Given the description of an element on the screen output the (x, y) to click on. 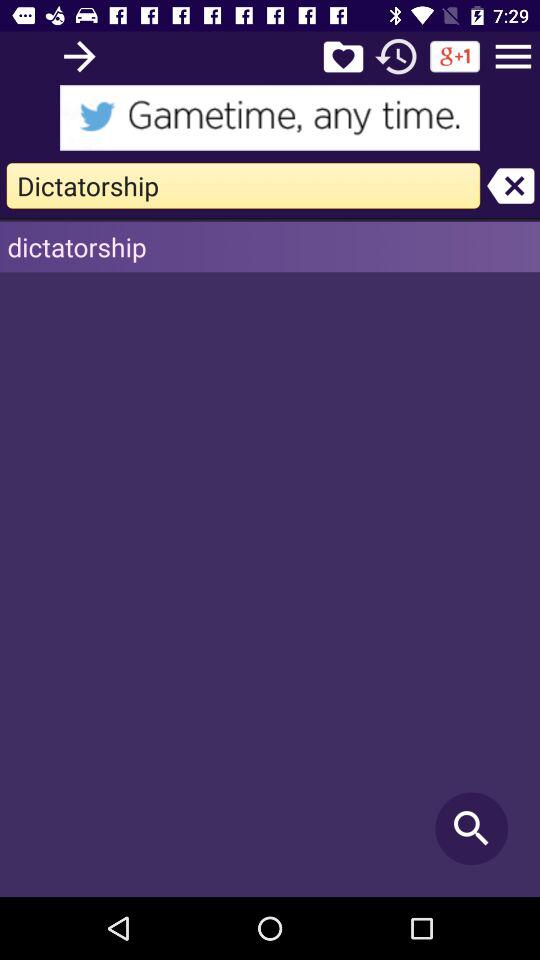
search (79, 56)
